Given the description of an element on the screen output the (x, y) to click on. 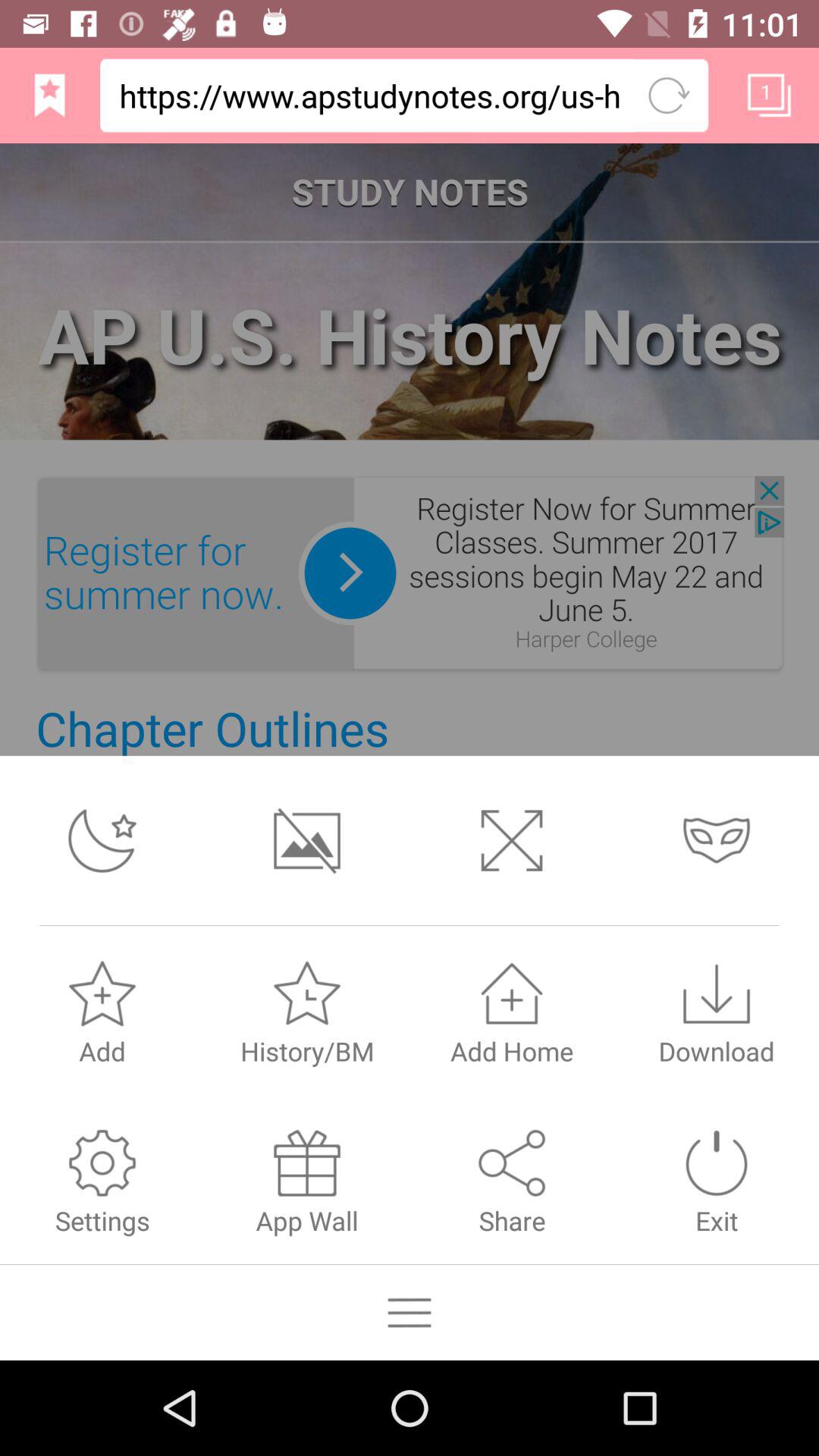
select the first icon from the top right (769, 95)
click on the download icon above exit (716, 1011)
click on image which is above the text historybm (306, 993)
select reload button (669, 95)
select the icon above add home (511, 993)
click on the exit tab (716, 1180)
